Given the description of an element on the screen output the (x, y) to click on. 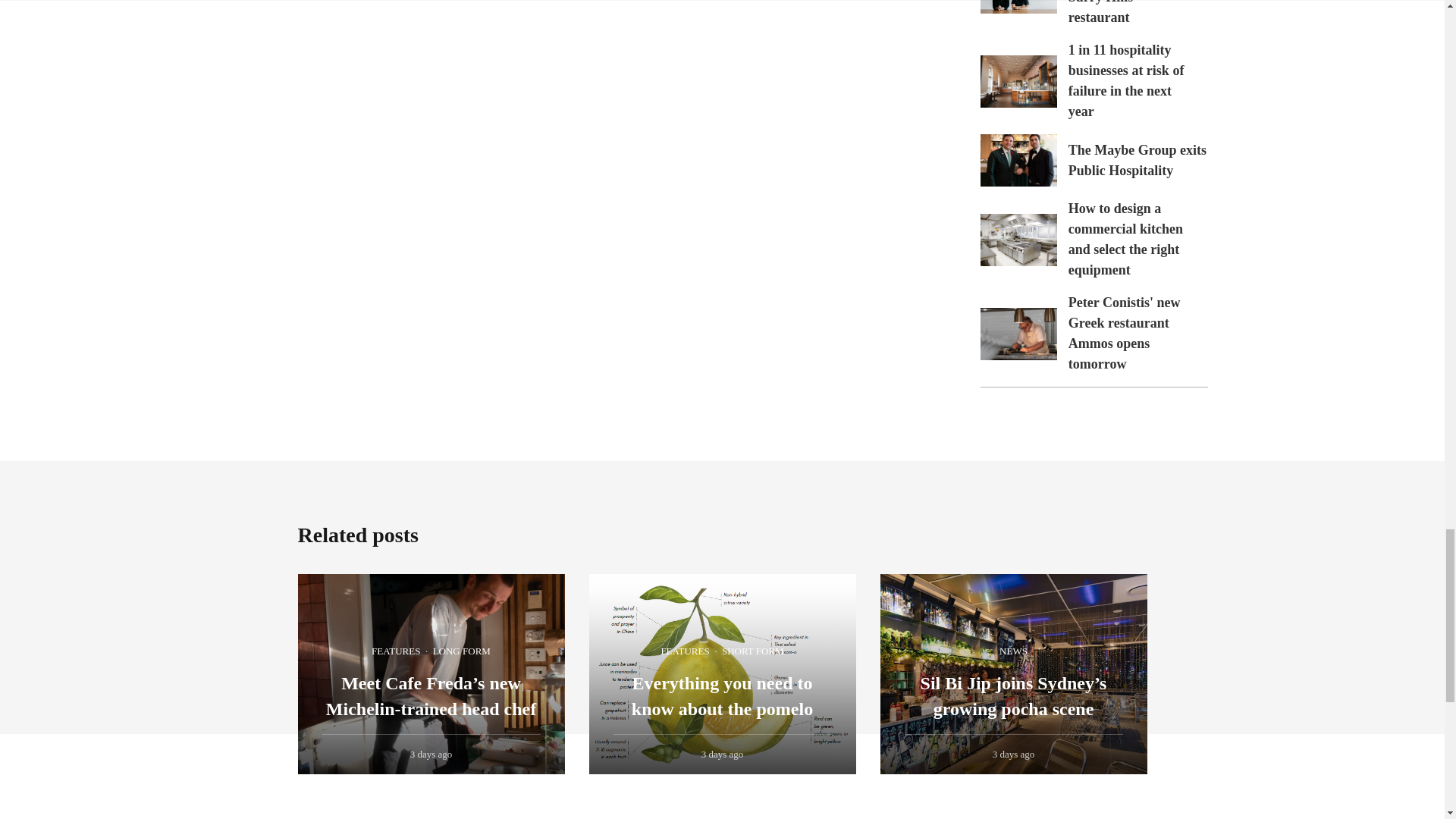
The Apollo Group announces 200-seater Surry Hills restaurant (1018, 6)
The Apollo Group announces 200-seater Surry Hills restaurant (1130, 12)
The Maybe Group exits Public Hospitality (1018, 160)
Peter Conistis' new Greek restaurant Ammos opens tomorrow (1124, 332)
The Maybe Group exits Public Hospitality (1137, 160)
Peter Conistis' new Greek restaurant Ammos opens tomorrow (1018, 333)
